Given the description of an element on the screen output the (x, y) to click on. 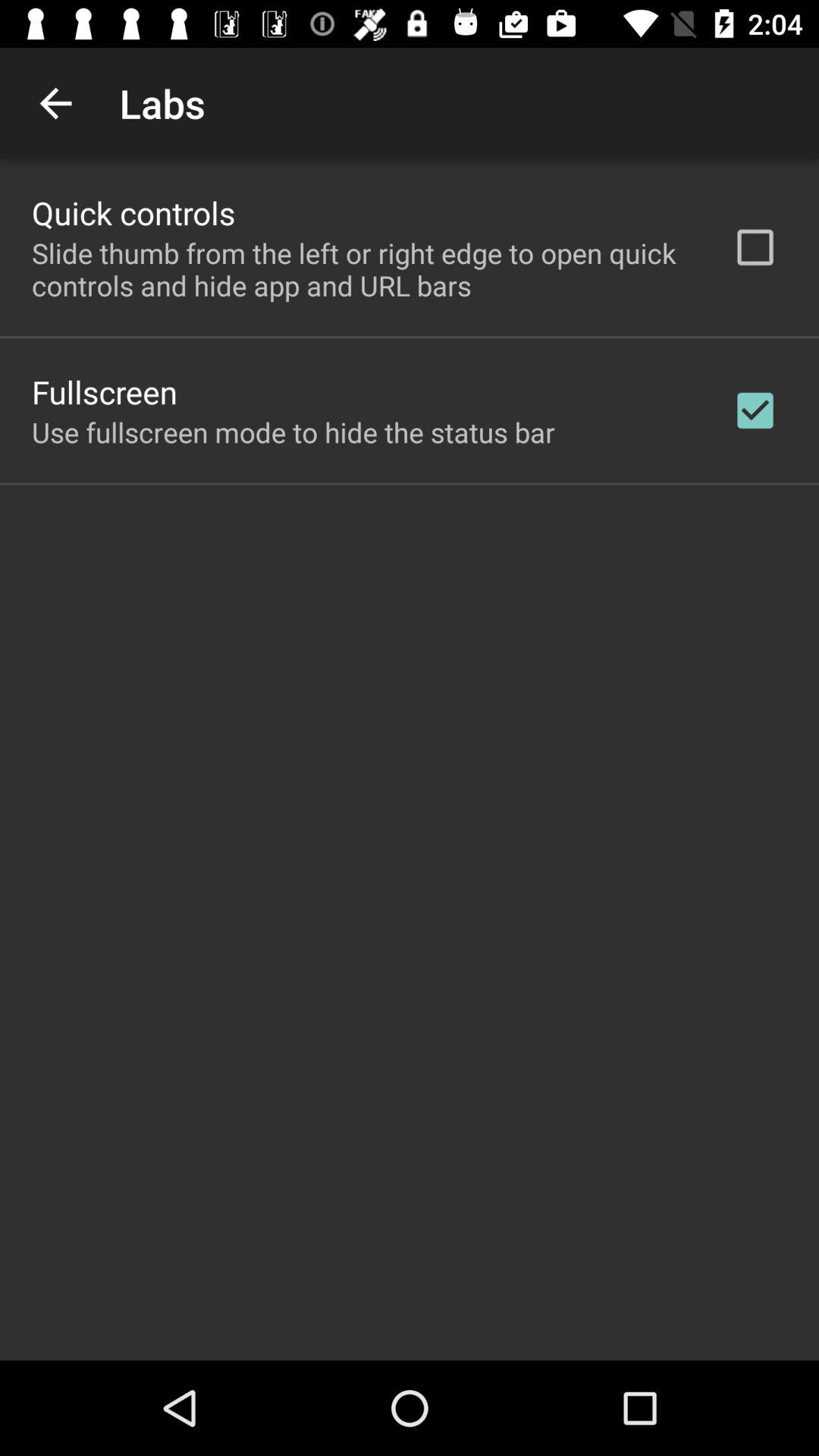
press app above fullscreen app (361, 269)
